Given the description of an element on the screen output the (x, y) to click on. 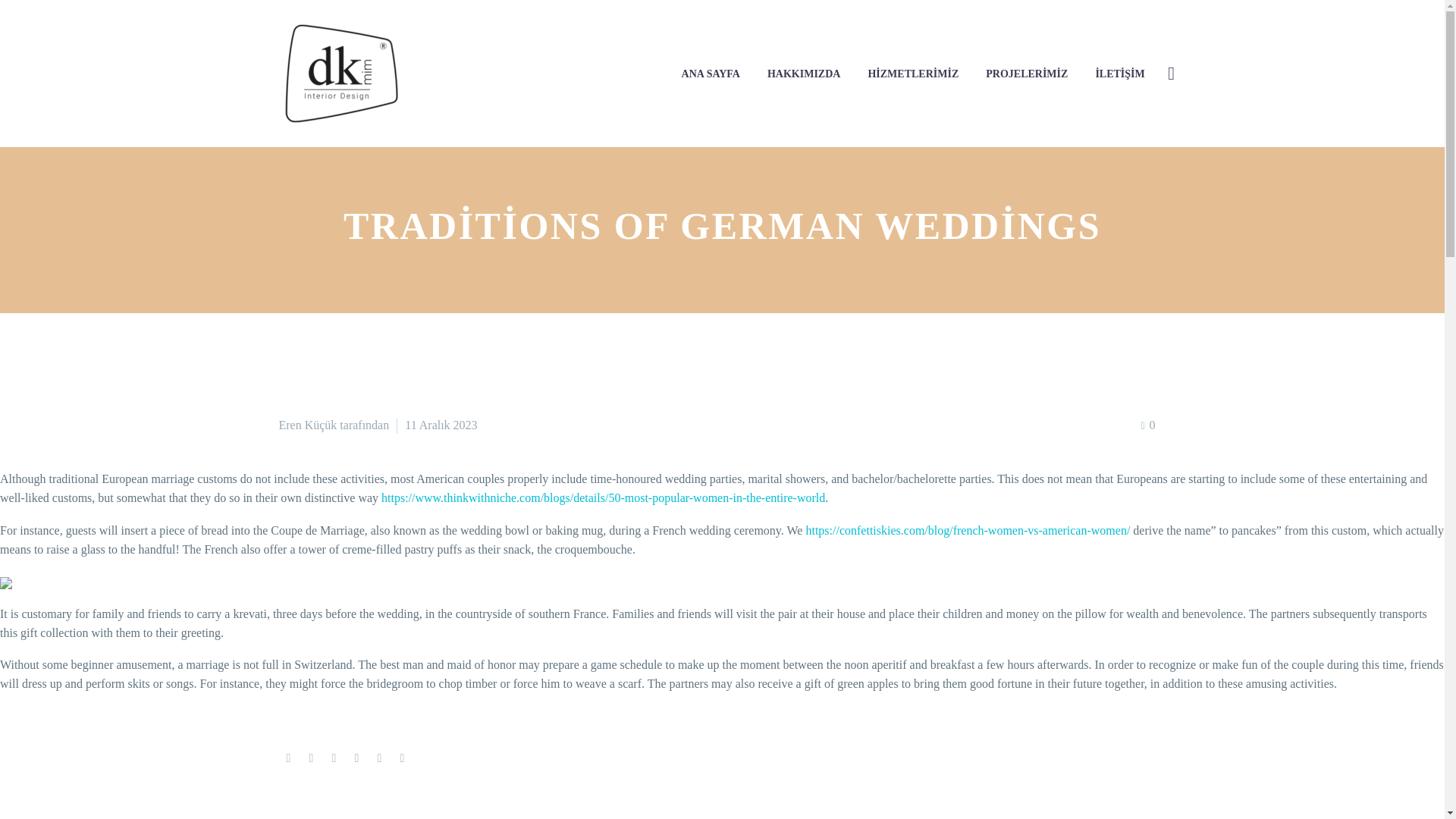
Tumblr (356, 758)
Pinterest (333, 758)
Reddit (401, 758)
Facebook (288, 758)
0 (1147, 424)
HIZMETLERIMIZ (912, 72)
LinkedIn (378, 758)
ANA SAYFA (710, 72)
HAKKIMIZDA (803, 72)
Twitter (310, 758)
